Given the description of an element on the screen output the (x, y) to click on. 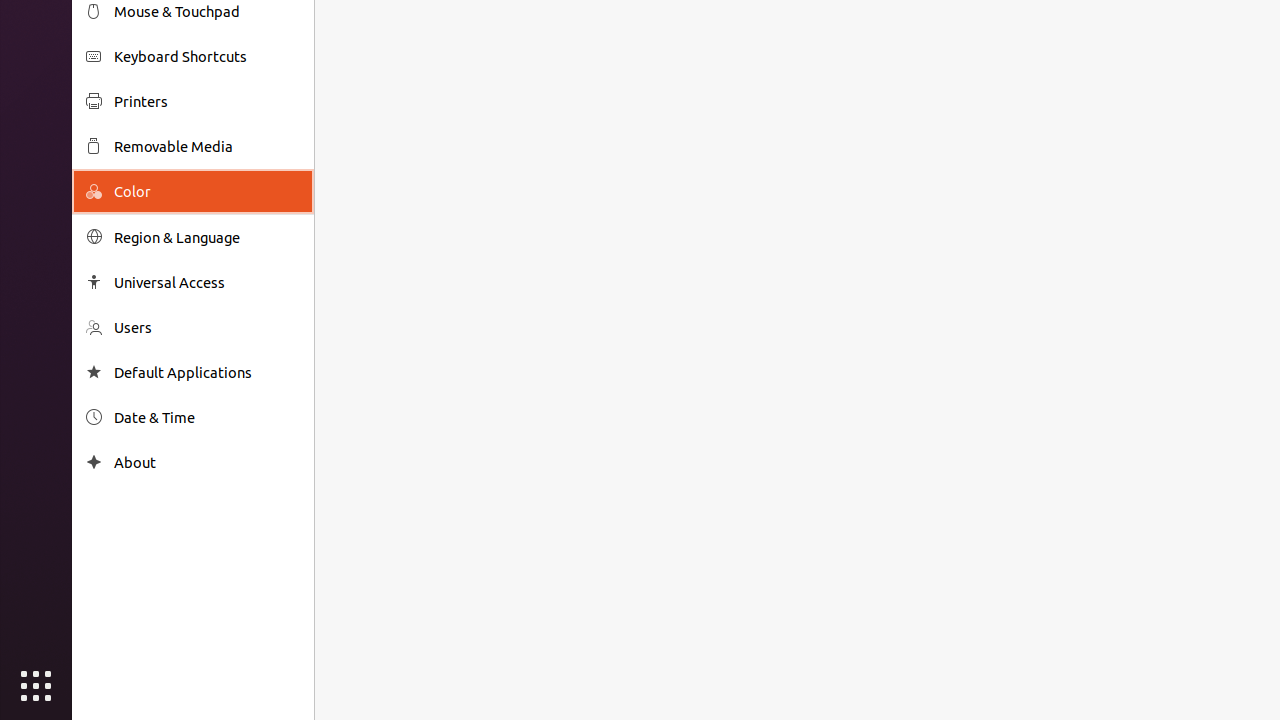
Date & Time Element type: label (207, 417)
Keyboard Shortcuts Element type: label (207, 56)
